Given the description of an element on the screen output the (x, y) to click on. 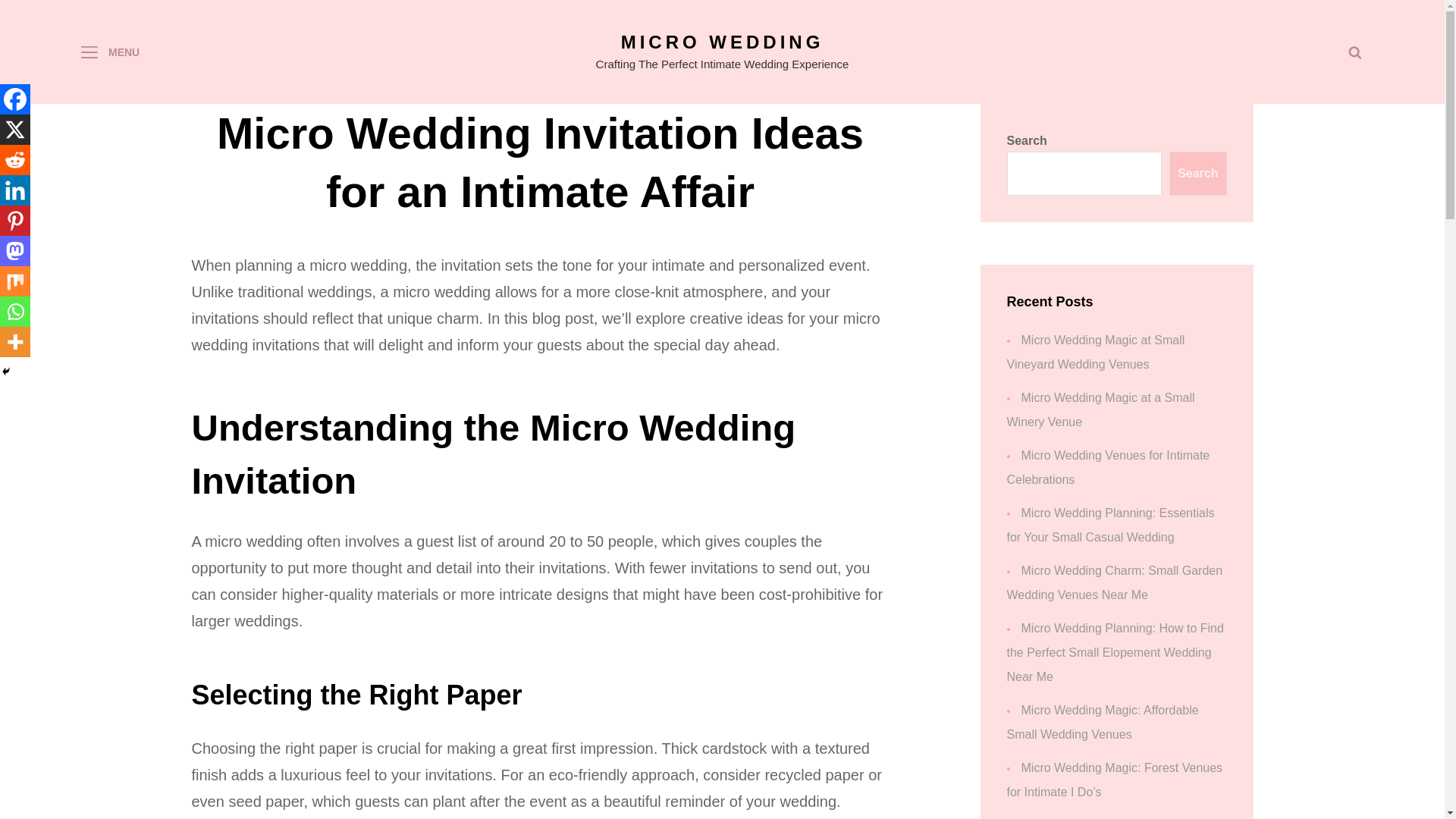
Micro Wedding Venues for Intimate Celebrations (1108, 467)
MENU (109, 52)
Micro Wedding Magic at Small Vineyard Wedding Venues (1096, 352)
Micro Wedding Magic at a Small Winery Venue (1101, 409)
Hide (5, 371)
Search (1354, 52)
Micro Wedding Charm: Small Garden Wedding Venues Near Me (1115, 582)
Micro Wedding Magic: Affordable Small Wedding Venues (1102, 722)
More (15, 341)
Mastodon (15, 250)
Linkedin (15, 190)
Whatsapp (15, 311)
Search (1197, 173)
